Given the description of an element on the screen output the (x, y) to click on. 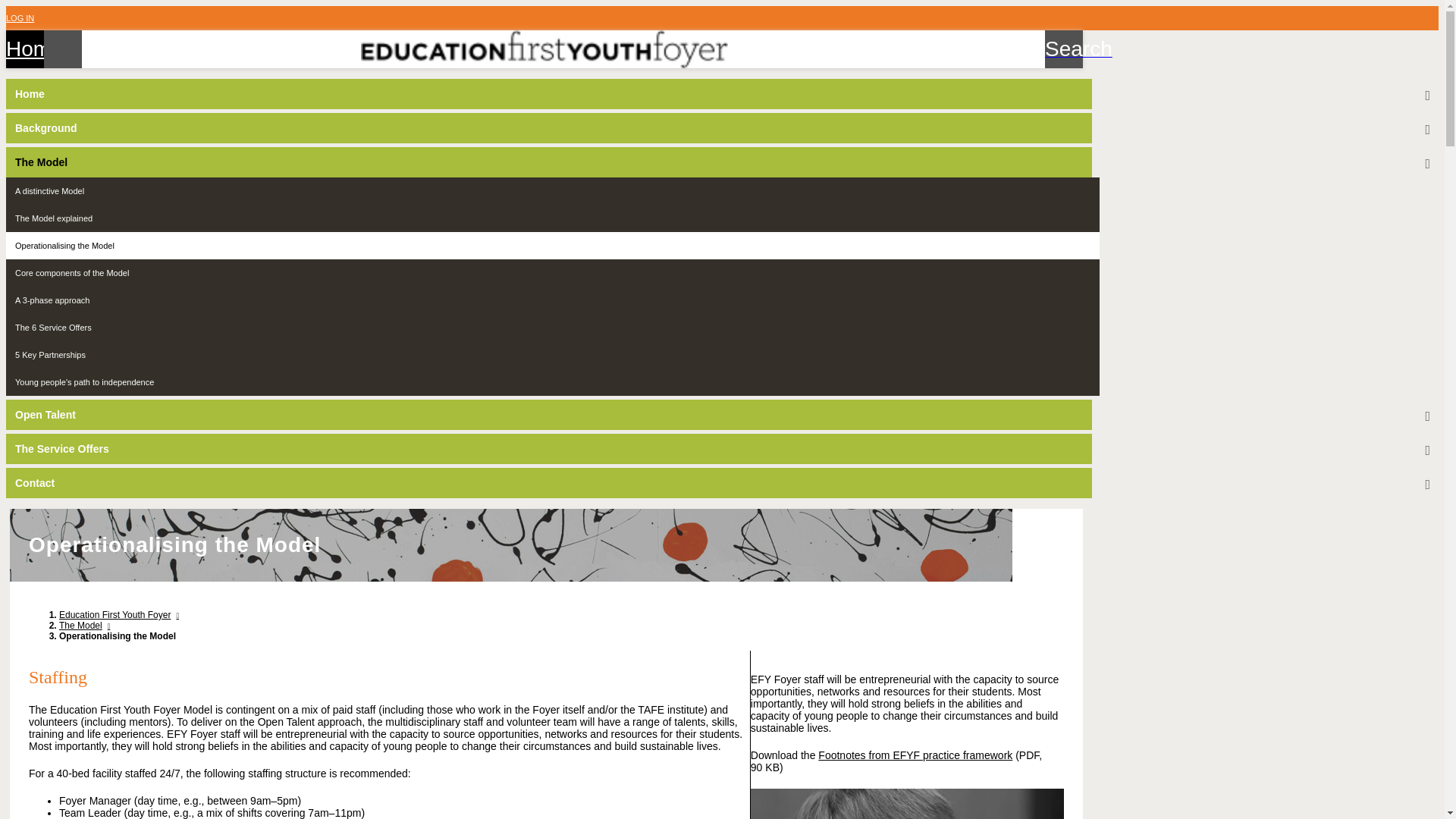
The Model (85, 624)
Education First Youth Foyer (119, 614)
